Given the description of an element on the screen output the (x, y) to click on. 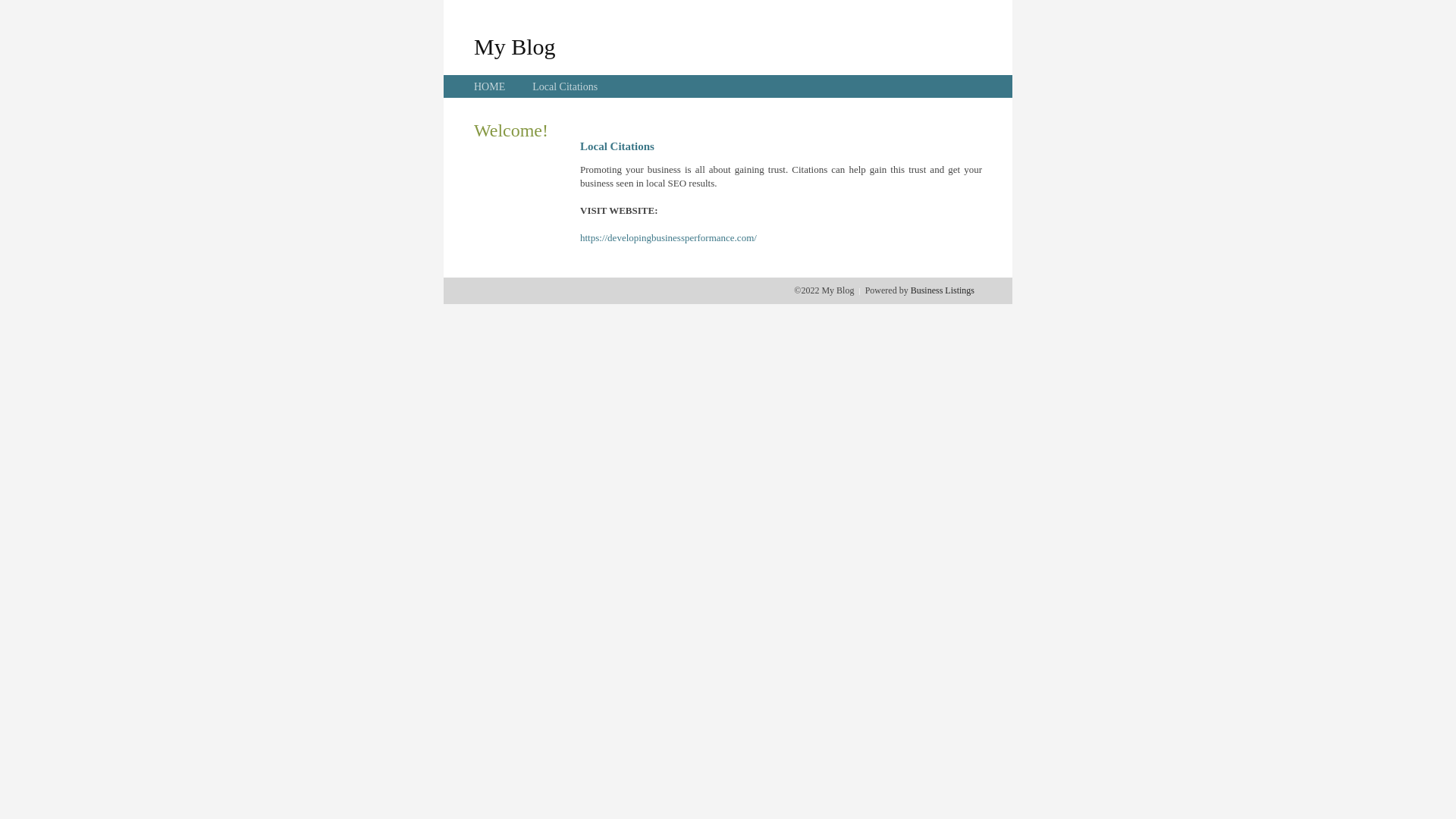
My Blog Element type: text (514, 46)
Business Listings Element type: text (942, 290)
HOME Element type: text (489, 86)
Local Citations Element type: text (564, 86)
https://developingbusinessperformance.com/ Element type: text (668, 237)
